Given the description of an element on the screen output the (x, y) to click on. 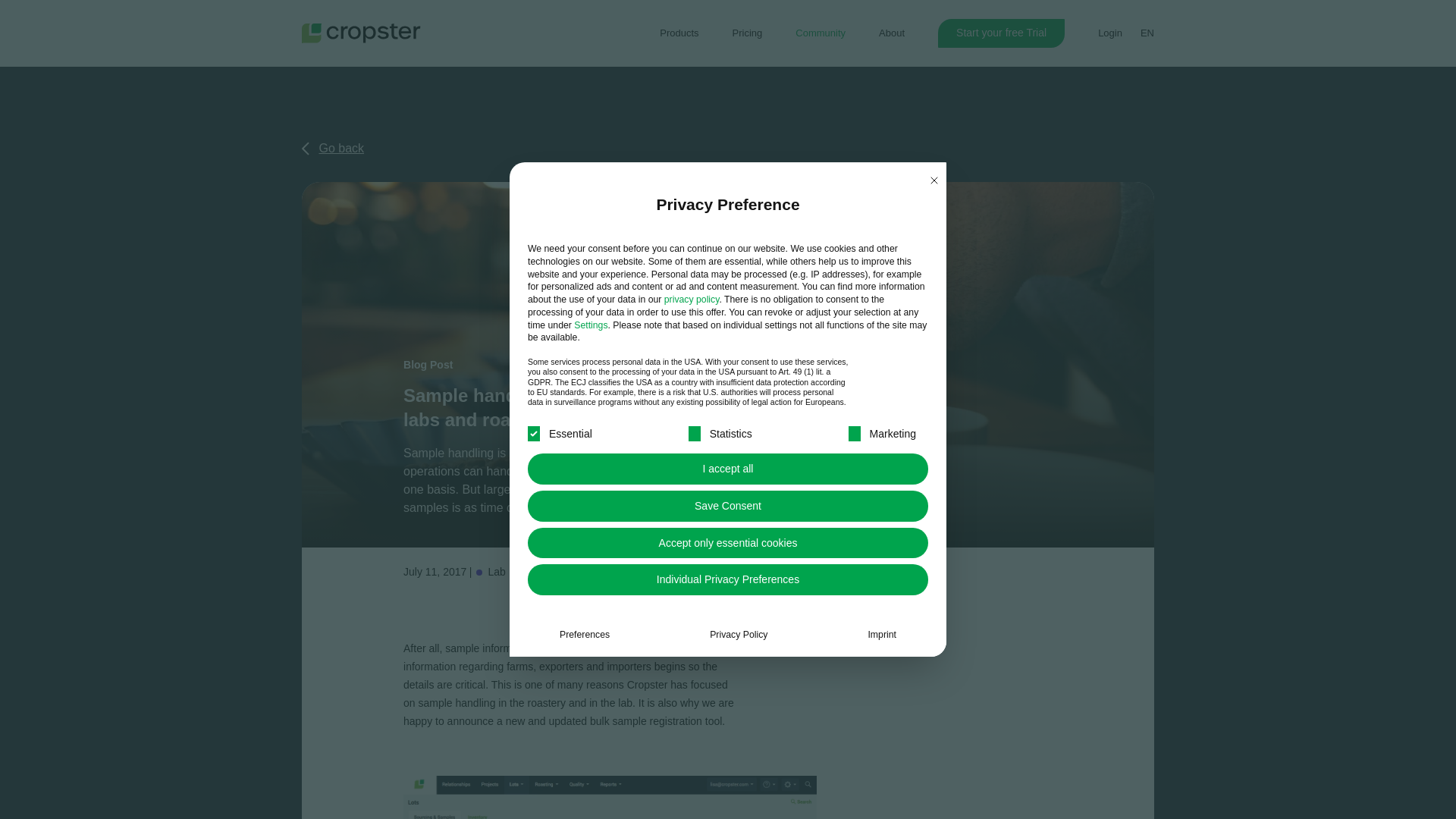
Products (678, 33)
Paul B (799, 571)
Pricing (747, 33)
Go to Blog Post. (427, 364)
Go back (332, 148)
Login (1109, 33)
About (891, 32)
Community (819, 32)
Blog Post (427, 364)
Start your free Trial (1000, 32)
